Given the description of an element on the screen output the (x, y) to click on. 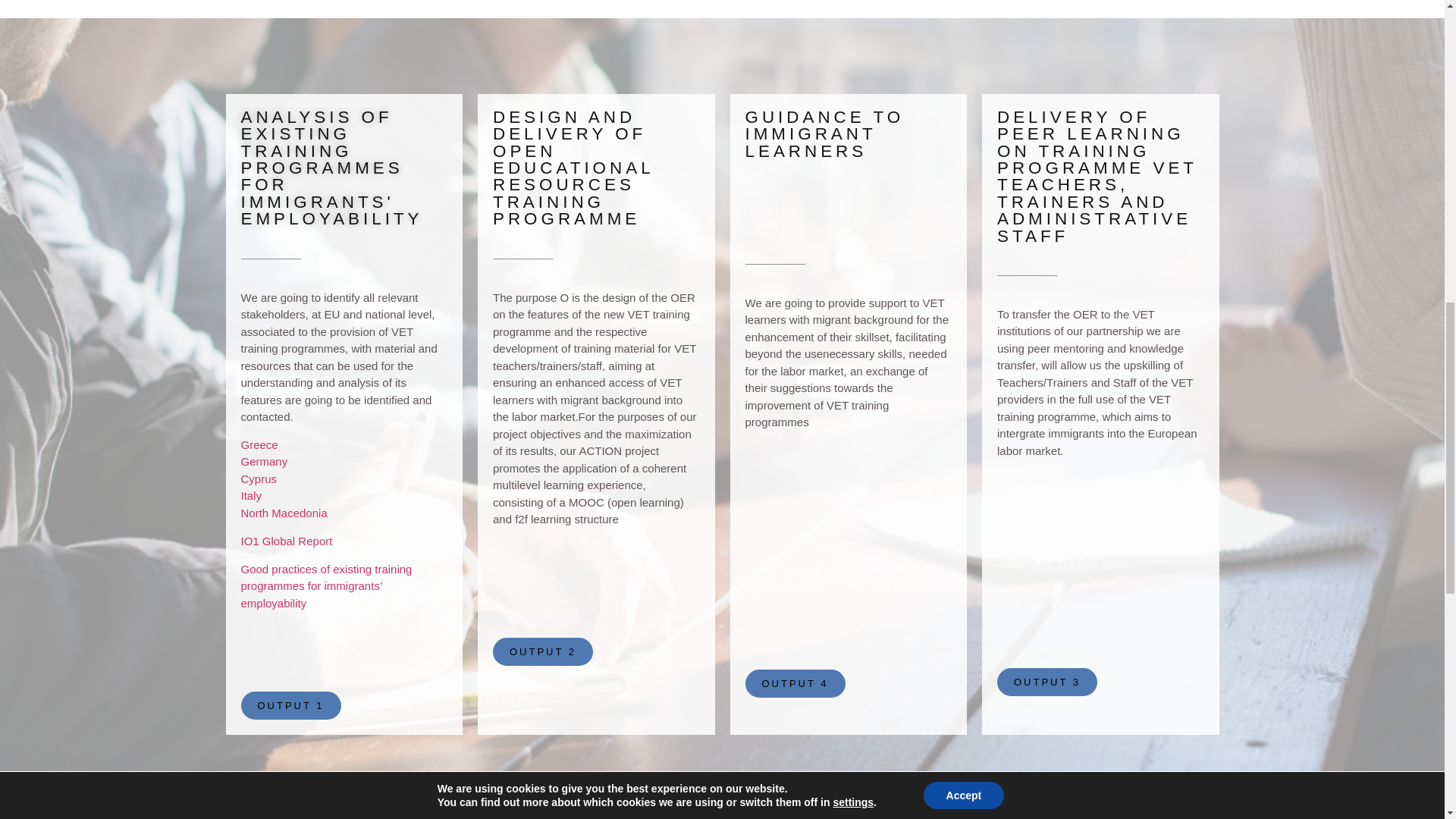
Italy (251, 495)
IO1 Global Report (287, 540)
Germany (264, 461)
Cyprus (259, 478)
Greece (259, 444)
North Macedonia (284, 512)
